Given the description of an element on the screen output the (x, y) to click on. 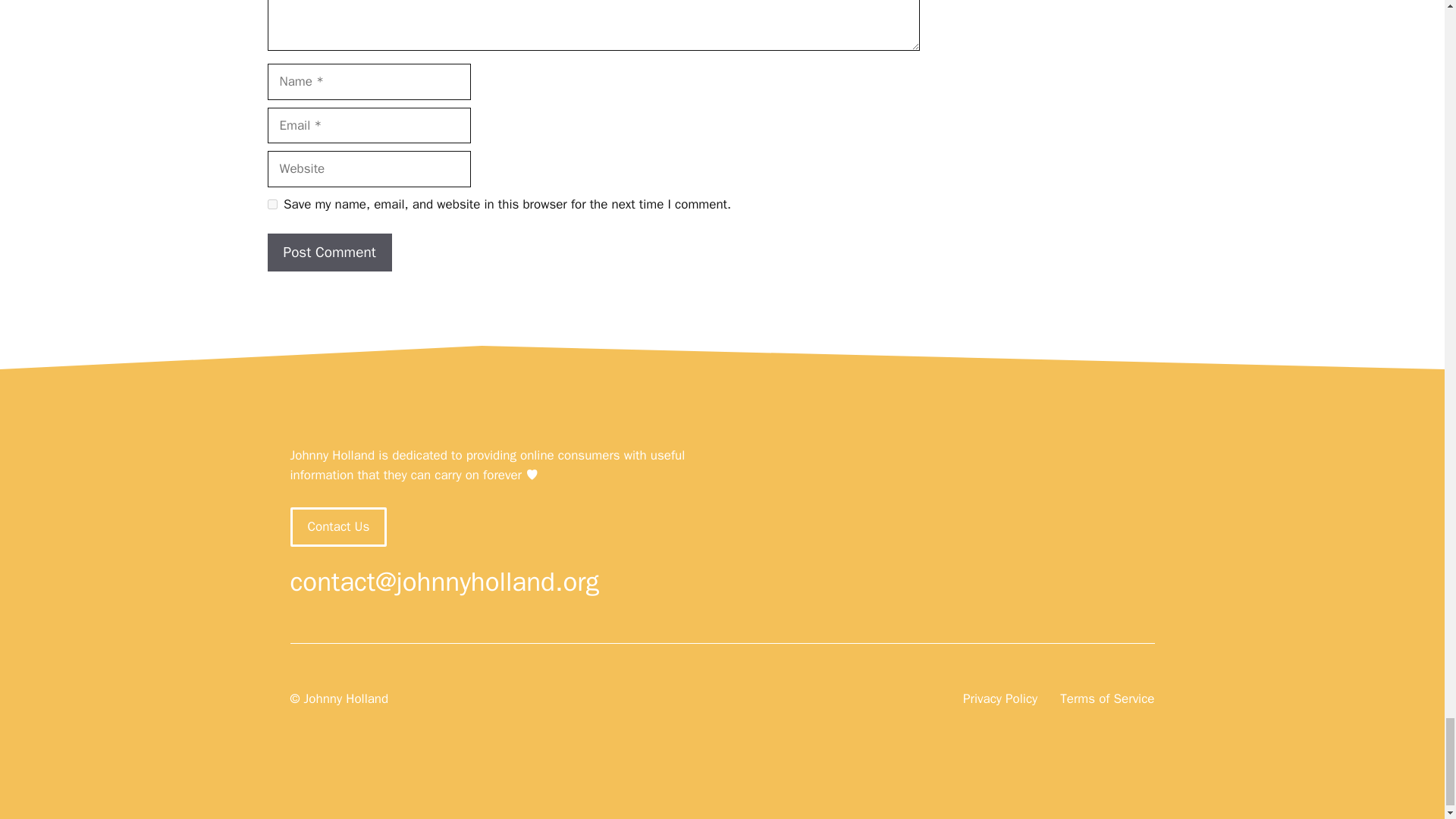
yes (271, 204)
Post Comment (328, 252)
Contact Us (338, 526)
Privacy Policy (999, 699)
Terms of Service (1106, 699)
Post Comment (328, 252)
